Given the description of an element on the screen output the (x, y) to click on. 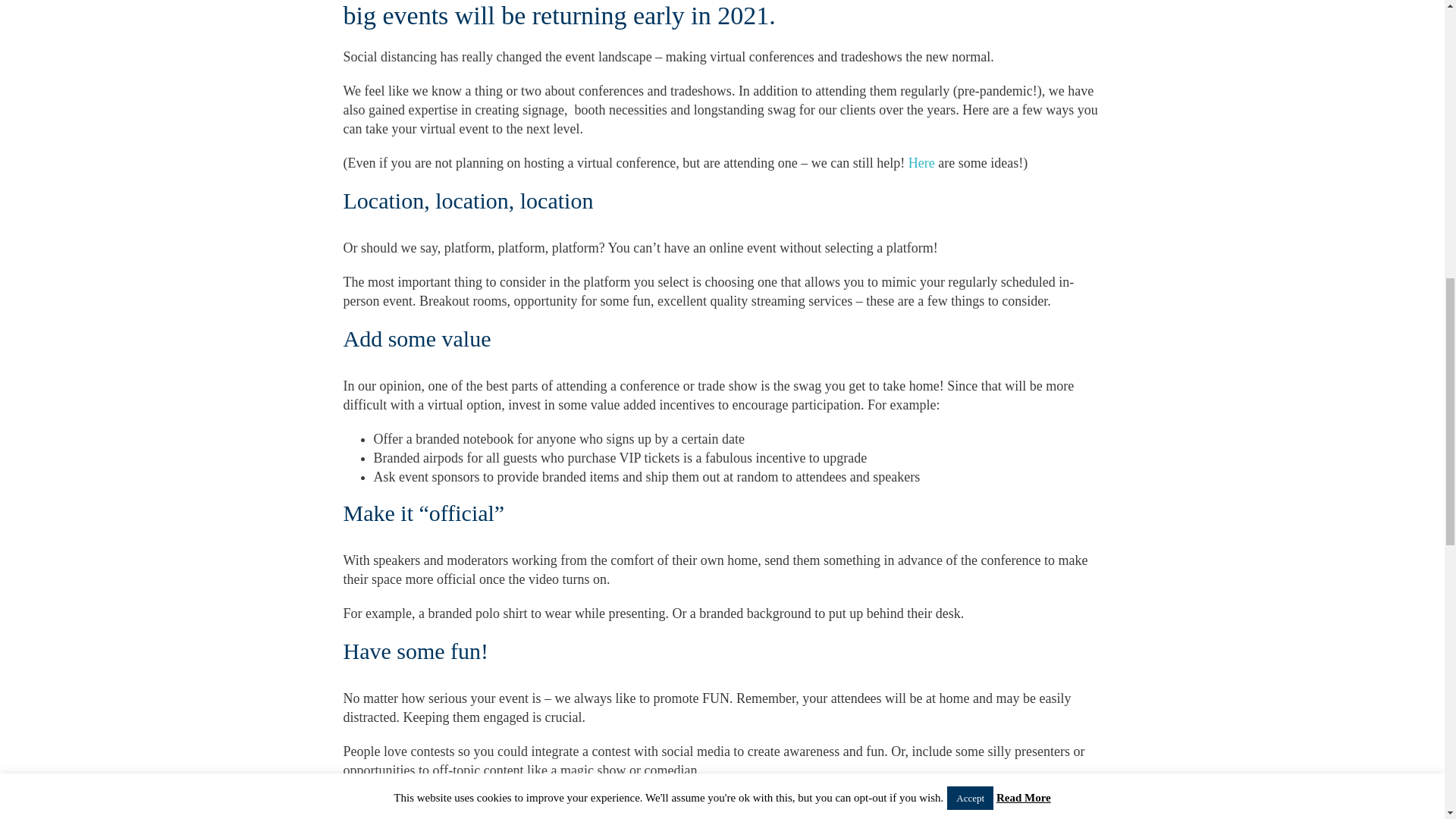
Here (921, 162)
